Given the description of an element on the screen output the (x, y) to click on. 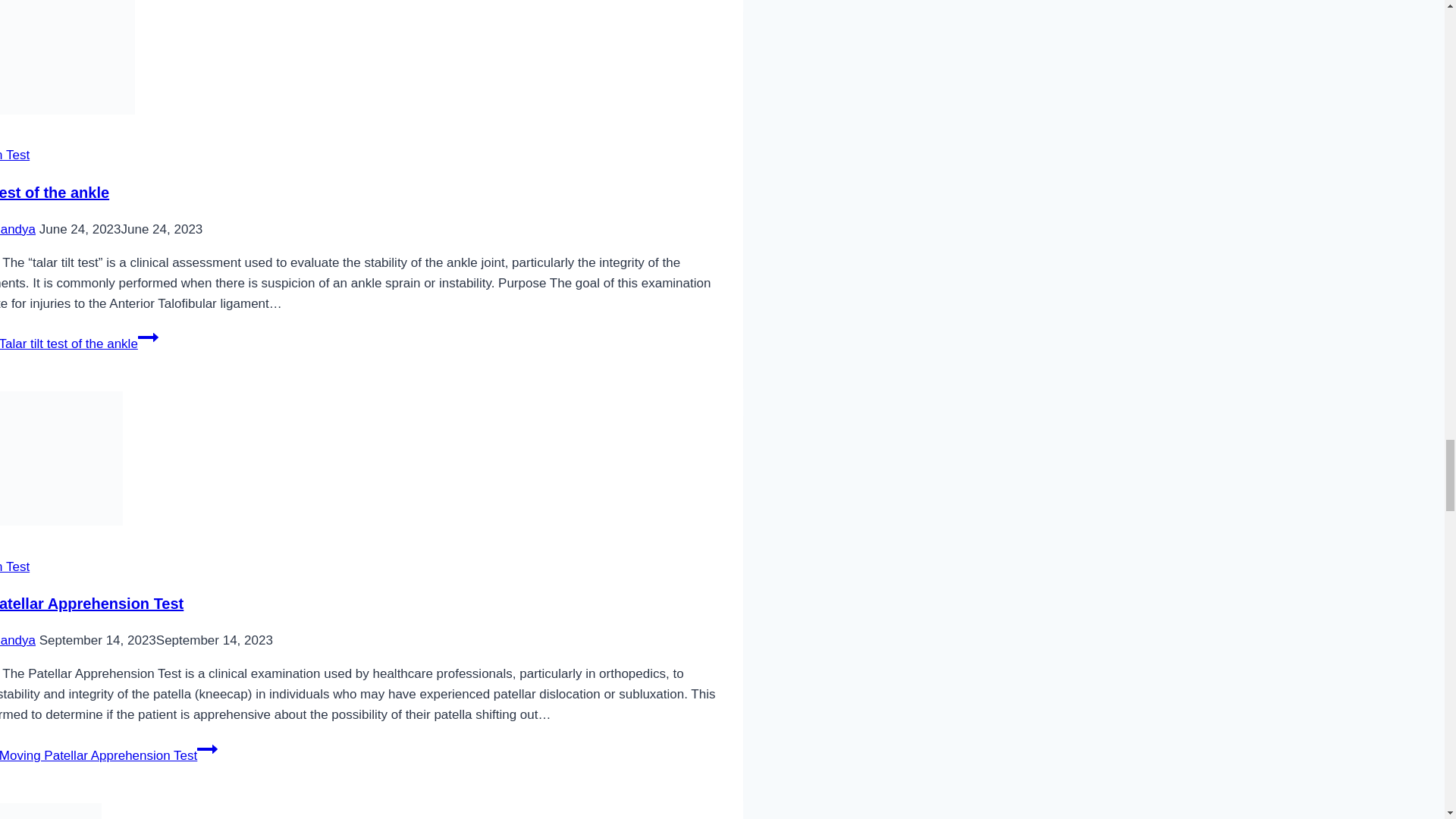
Continue (206, 749)
Continue (148, 337)
